Given the description of an element on the screen output the (x, y) to click on. 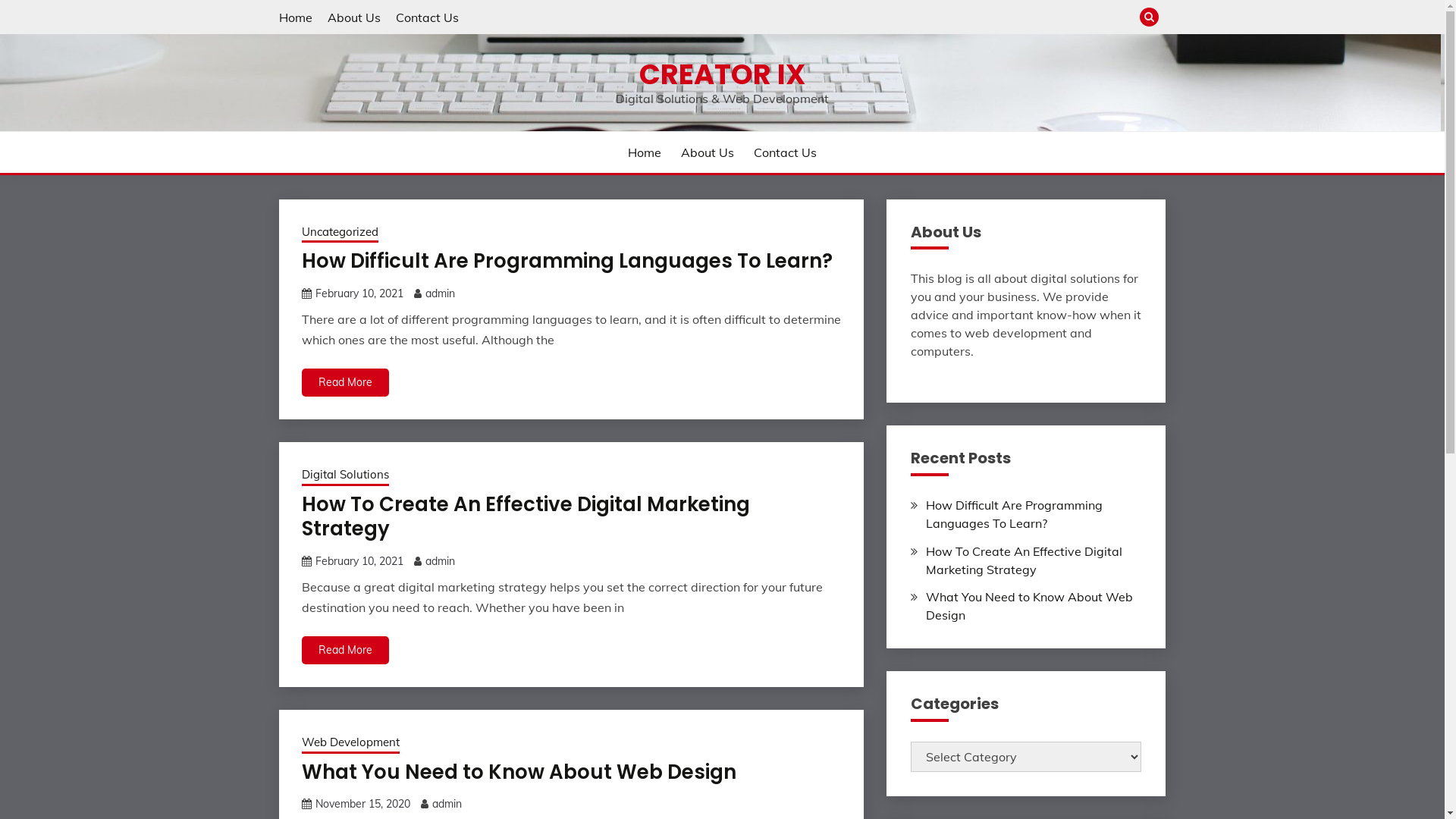
How To Create An Effective Digital Marketing Strategy Element type: text (1023, 560)
About Us Element type: text (353, 16)
Contact Us Element type: text (426, 16)
February 10, 2021 Element type: text (359, 560)
admin Element type: text (439, 293)
CREATOR IX Element type: text (722, 74)
Contact Us Element type: text (784, 152)
Digital Solutions Element type: text (345, 476)
What You Need to Know About Web Design Element type: text (1028, 605)
November 15, 2020 Element type: text (362, 803)
How Difficult Are Programming Languages To Learn? Element type: text (1013, 513)
admin Element type: text (446, 803)
Read More Element type: text (345, 650)
February 10, 2021 Element type: text (359, 293)
admin Element type: text (439, 560)
Read More Element type: text (345, 382)
Web Development Element type: text (350, 743)
How To Create An Effective Digital Marketing Strategy Element type: text (525, 516)
Uncategorized Element type: text (339, 233)
About Us Element type: text (707, 152)
Home Element type: text (644, 152)
How Difficult Are Programming Languages To Learn? Element type: text (566, 260)
Search Element type: text (832, 18)
Home Element type: text (295, 16)
What You Need to Know About Web Design Element type: text (518, 771)
